Given the description of an element on the screen output the (x, y) to click on. 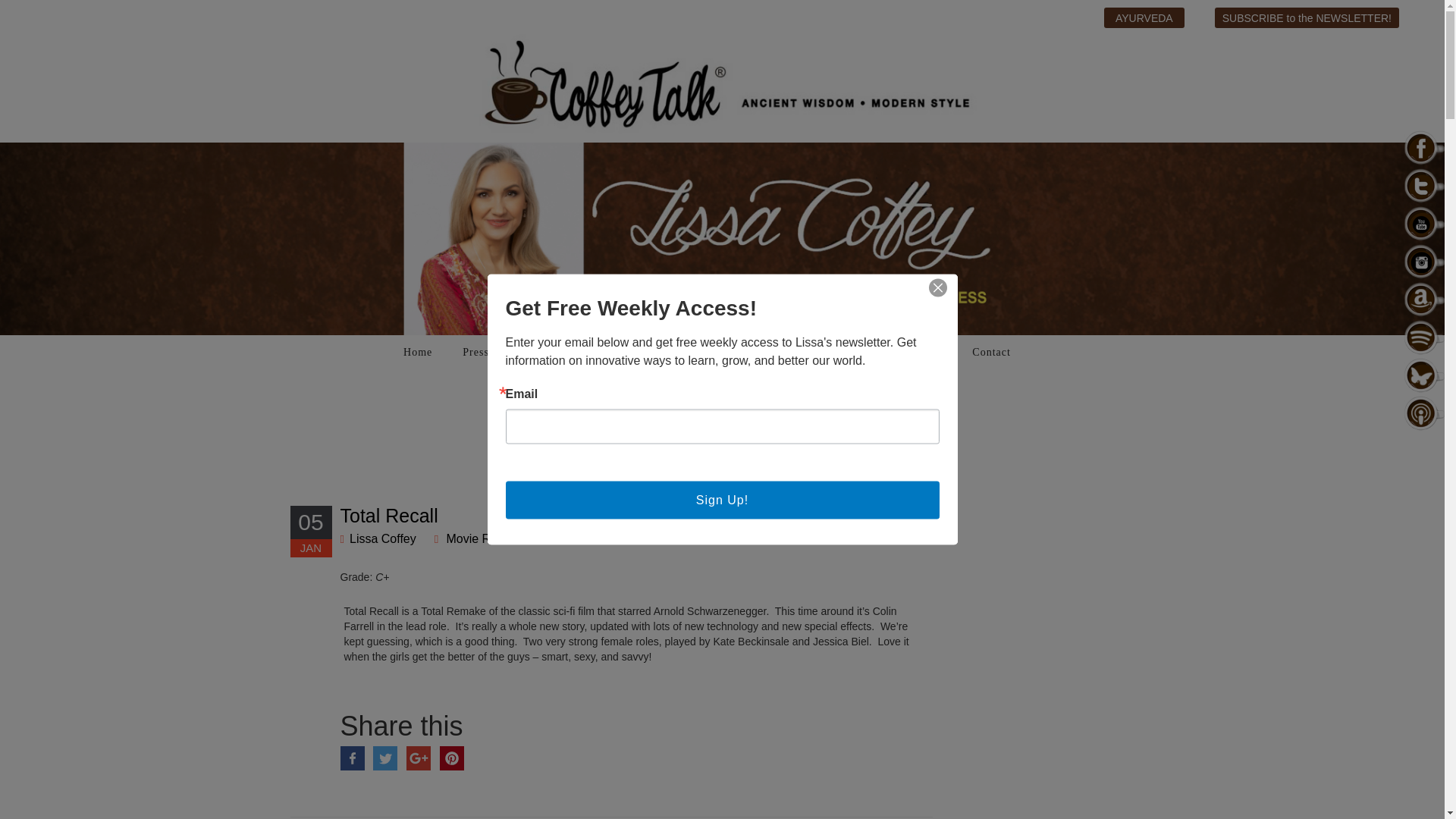
SUBSCRIBE to the NEWSLETTER! (1306, 17)
Blog (637, 351)
Courses (567, 351)
Total Recall (388, 515)
AYURVEDA (1144, 17)
Home (414, 351)
Press Room (487, 351)
